Given the description of an element on the screen output the (x, y) to click on. 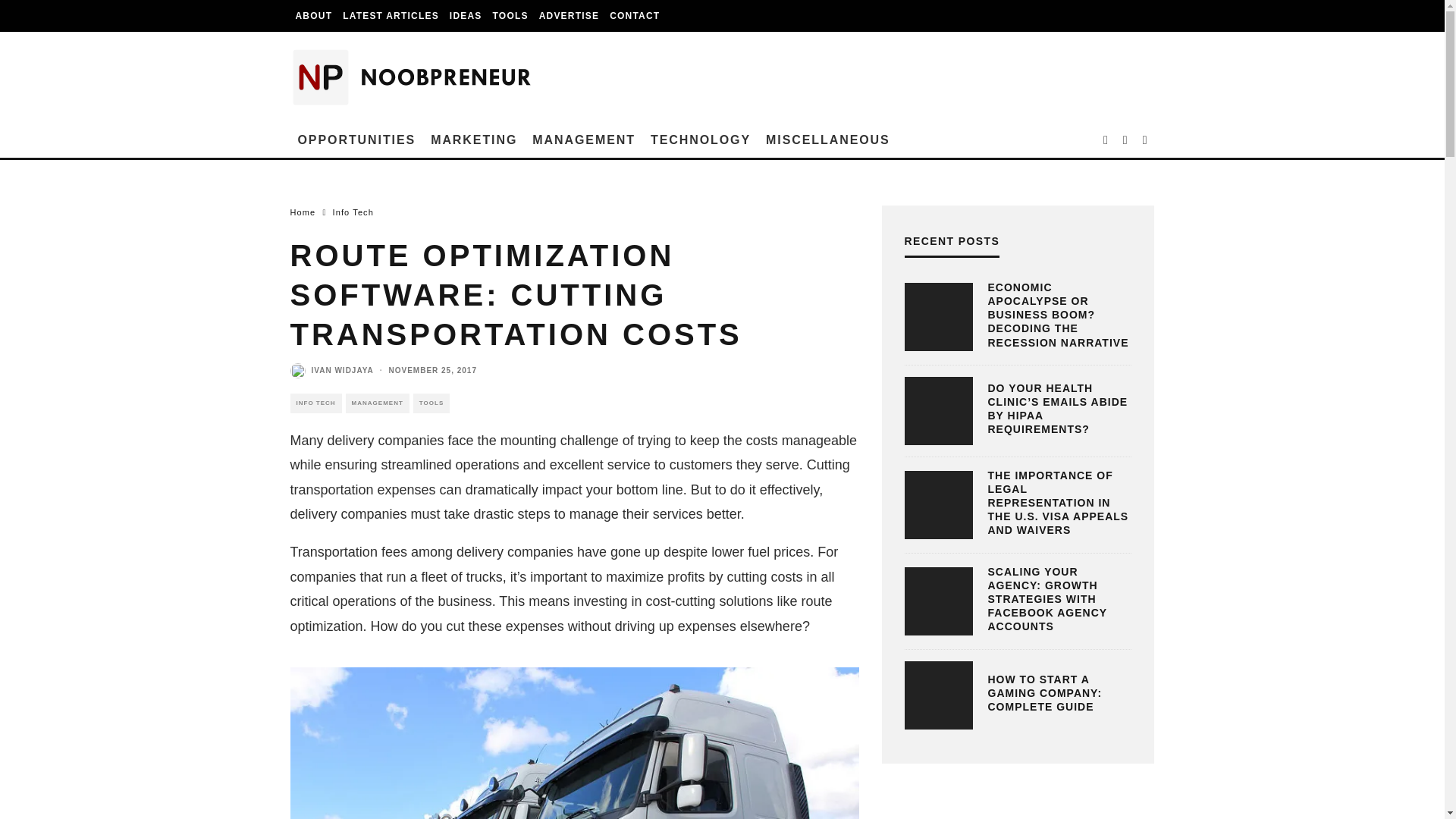
Business Management (583, 140)
LATEST ARTICLES (390, 15)
Other Business News and Tips (828, 140)
Small Business Ideas (465, 15)
MANAGEMENT (583, 140)
MARKETING (473, 140)
Business Opportunities (356, 140)
OPPORTUNITIES (356, 140)
IDEAS (465, 15)
Information Technology (700, 140)
